Given the description of an element on the screen output the (x, y) to click on. 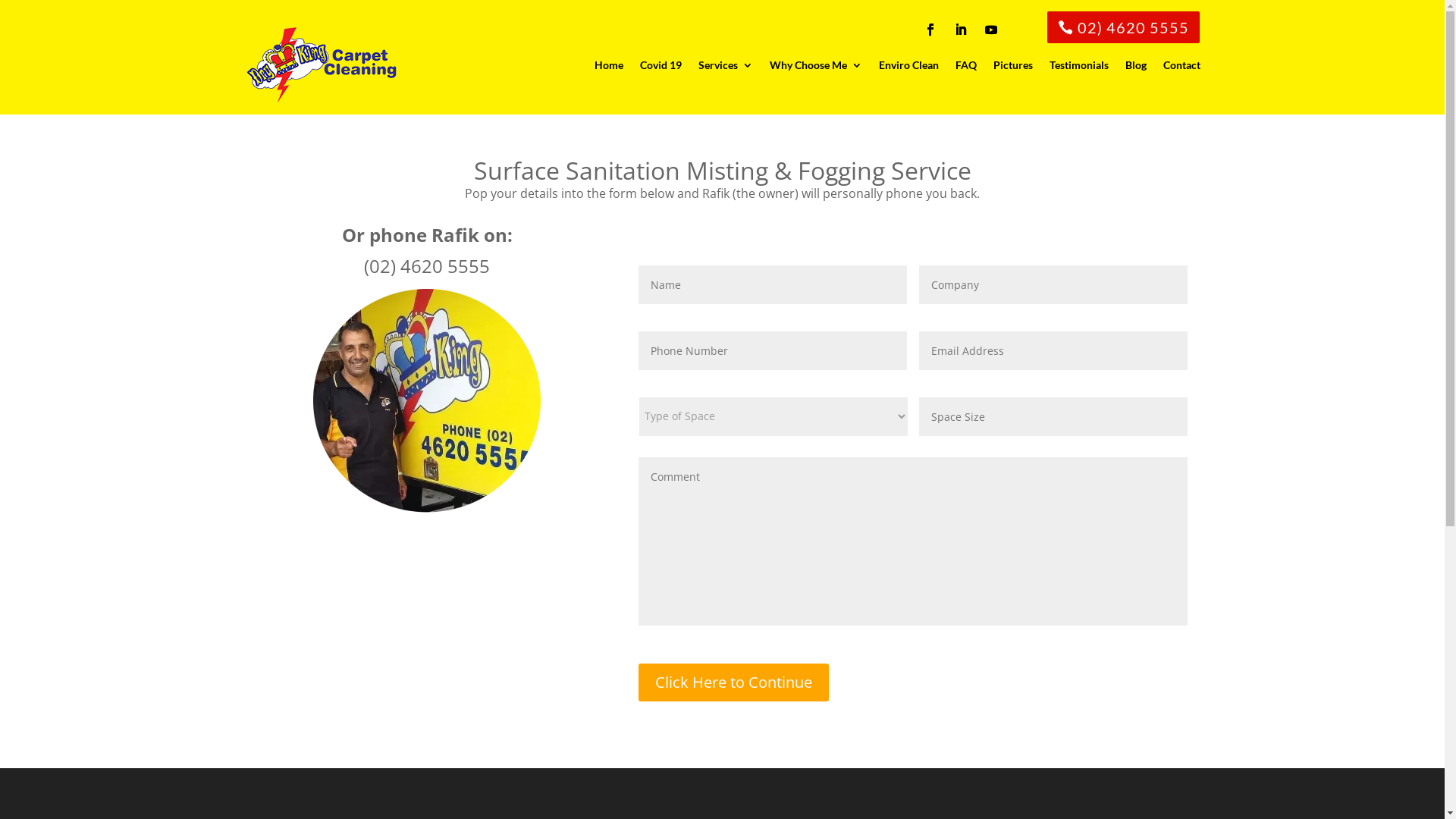
Covid 19 Element type: text (660, 65)
Click Here to Continue Element type: text (733, 682)
Testimonials Element type: text (1078, 65)
Home Element type: text (608, 65)
Services Element type: text (724, 65)
Why Choose Me Element type: text (814, 65)
Follow on Youtube Element type: hover (991, 29)
Blog Element type: text (1135, 65)
Contact Element type: text (1181, 65)
02) 4620 5555 Element type: text (1123, 27)
Pictures Element type: text (1012, 65)
FAQ Element type: text (965, 65)
Follow on LinkedIn Element type: hover (960, 29)
Enviro Clean Element type: text (908, 65)
Follow on Facebook Element type: hover (930, 29)
